Given the description of an element on the screen output the (x, y) to click on. 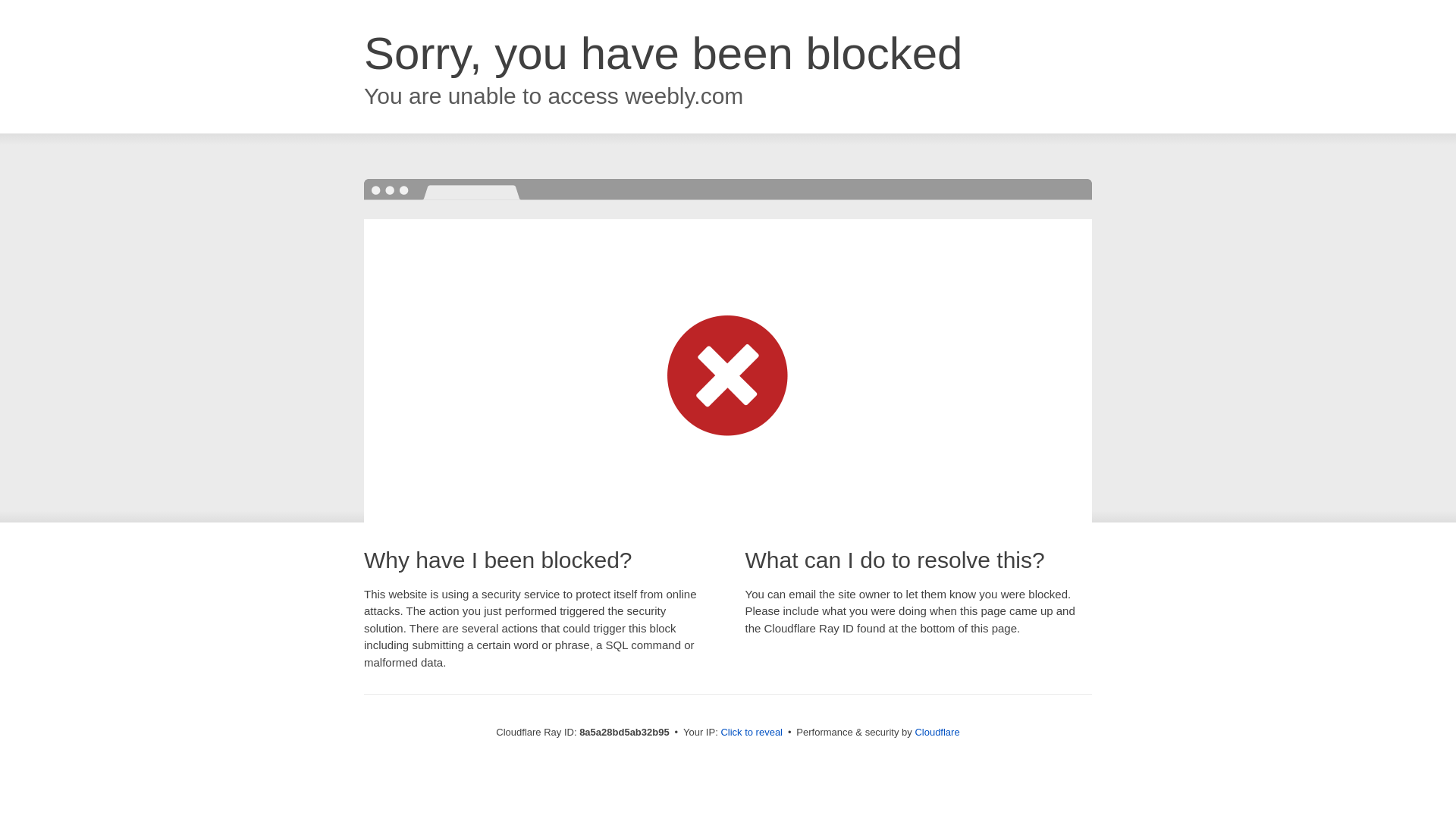
Click to reveal (751, 732)
Cloudflare (936, 731)
